Given the description of an element on the screen output the (x, y) to click on. 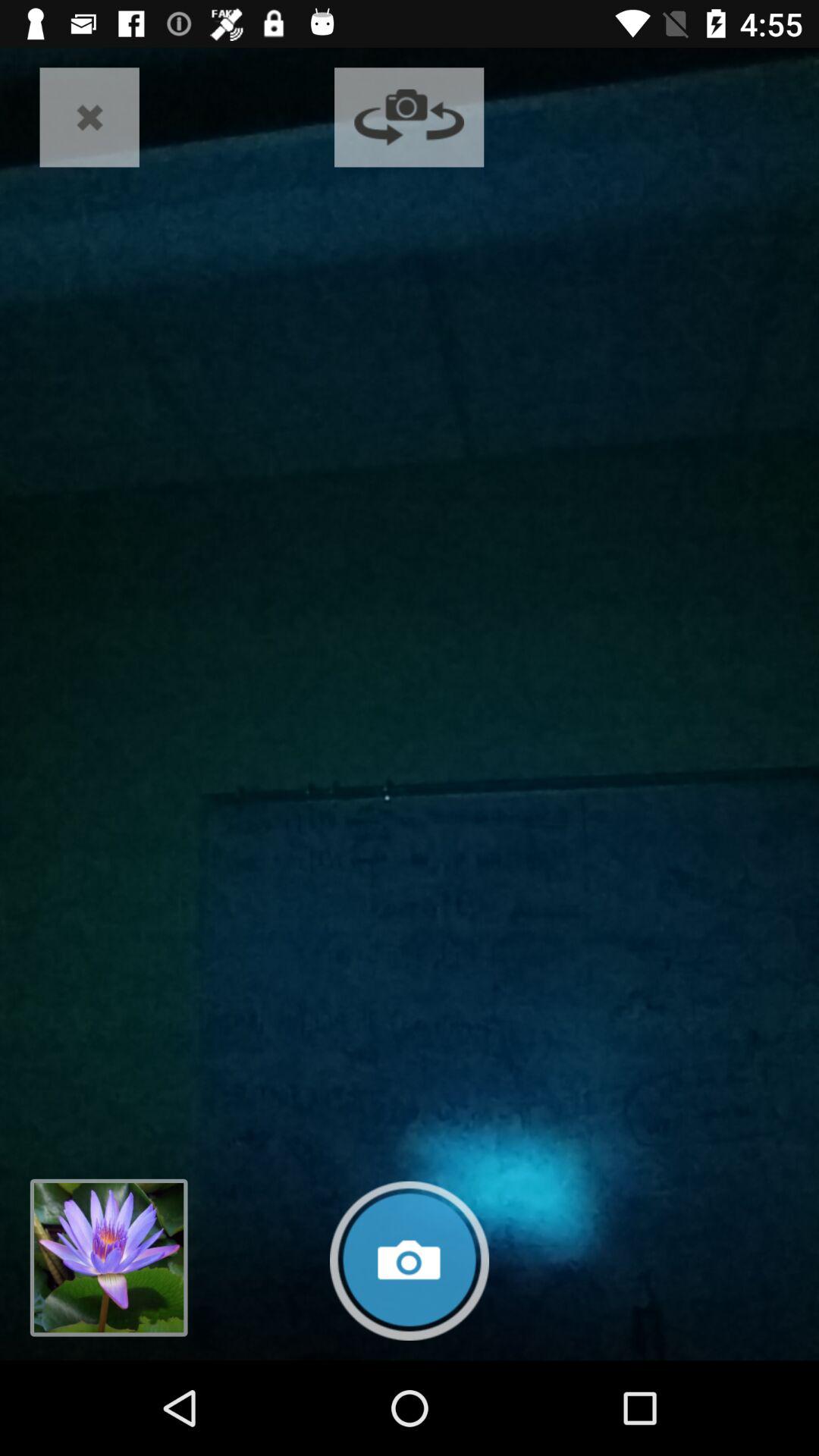
close the app (89, 117)
